Given the description of an element on the screen output the (x, y) to click on. 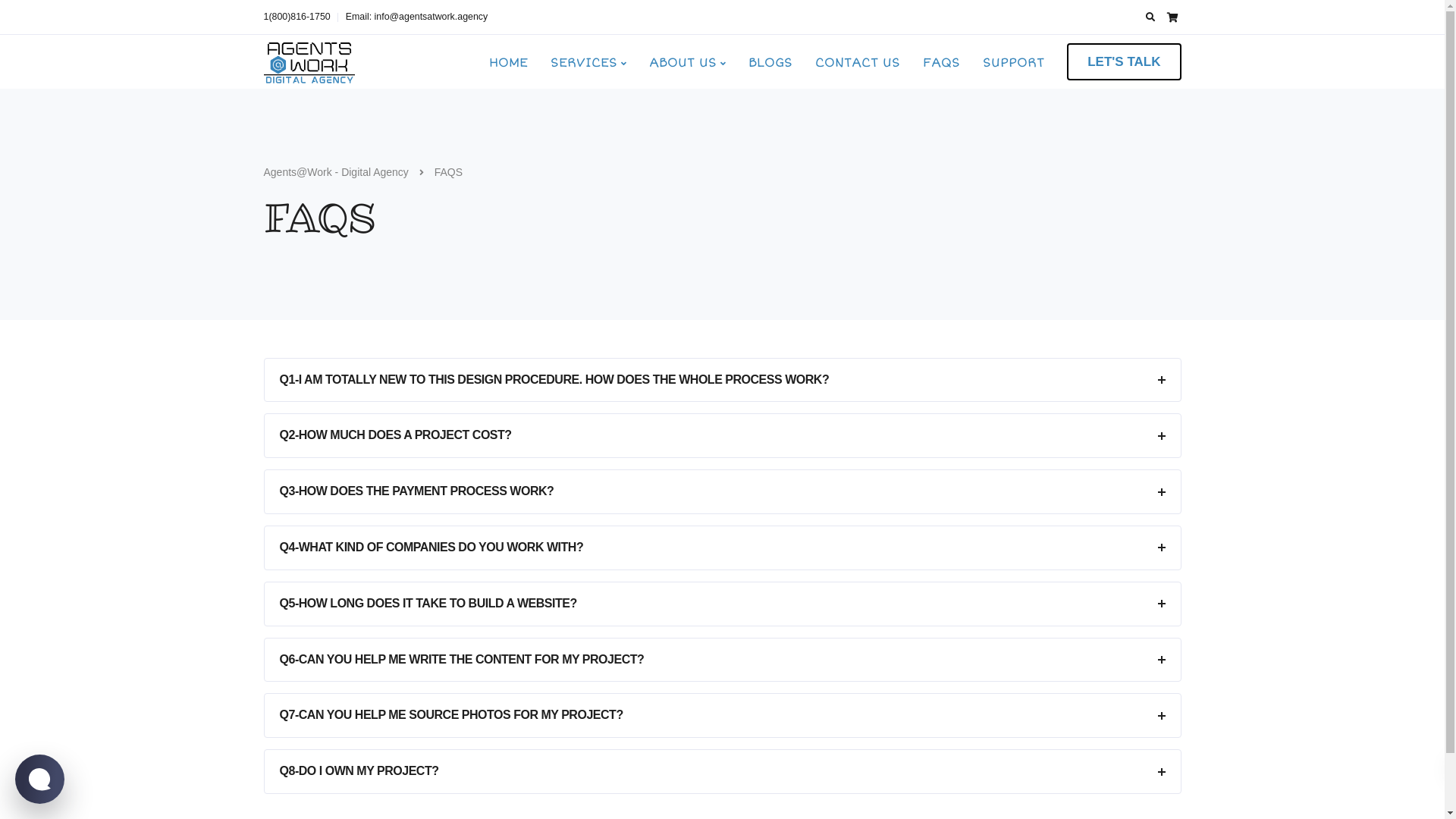
FAQS Element type: text (941, 61)
ABOUT US Element type: text (687, 61)
Agents@Work - Digital Agency Element type: text (335, 172)
1(800)816-1750 Element type: text (300, 16)
Email: info@agentsatwork.agency Element type: text (416, 16)
LET'S TALK Element type: text (1123, 61)
SERVICES Element type: text (588, 61)
CONTACT US Element type: text (857, 61)
BLOGS Element type: text (770, 61)
HOME Element type: text (508, 61)
cart Element type: hover (1172, 17)
SUPPORT Element type: text (1013, 61)
